Given the description of an element on the screen output the (x, y) to click on. 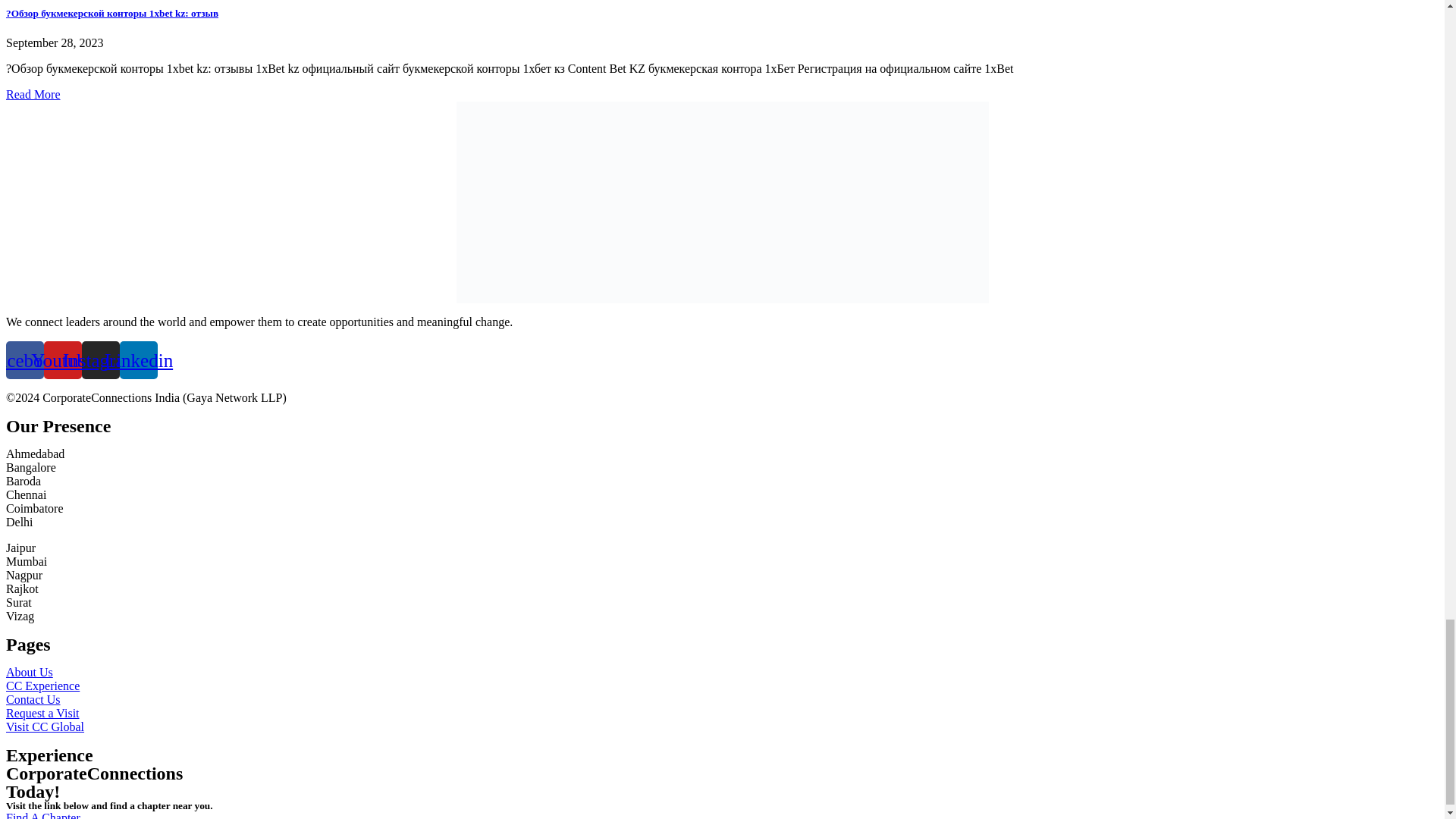
Youtube (62, 360)
CC Experience (42, 685)
Contact Us (33, 698)
Instagram (100, 360)
Facebook (24, 360)
Read More (33, 93)
Linkedin (138, 360)
Visit CC Global (44, 726)
About Us (28, 671)
Request a Visit (42, 712)
